Given the description of an element on the screen output the (x, y) to click on. 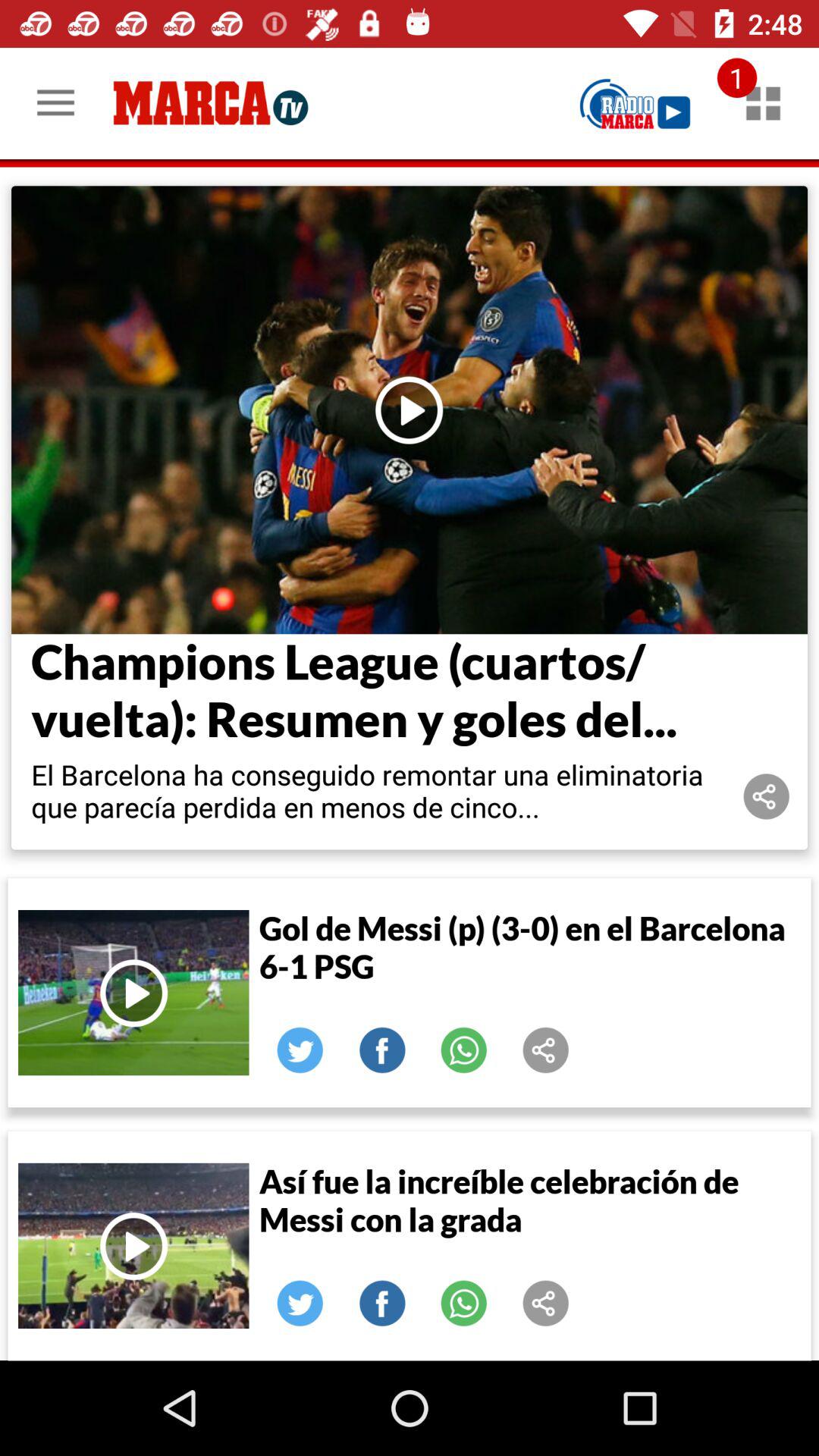
open video (133, 1245)
